Given the description of an element on the screen output the (x, y) to click on. 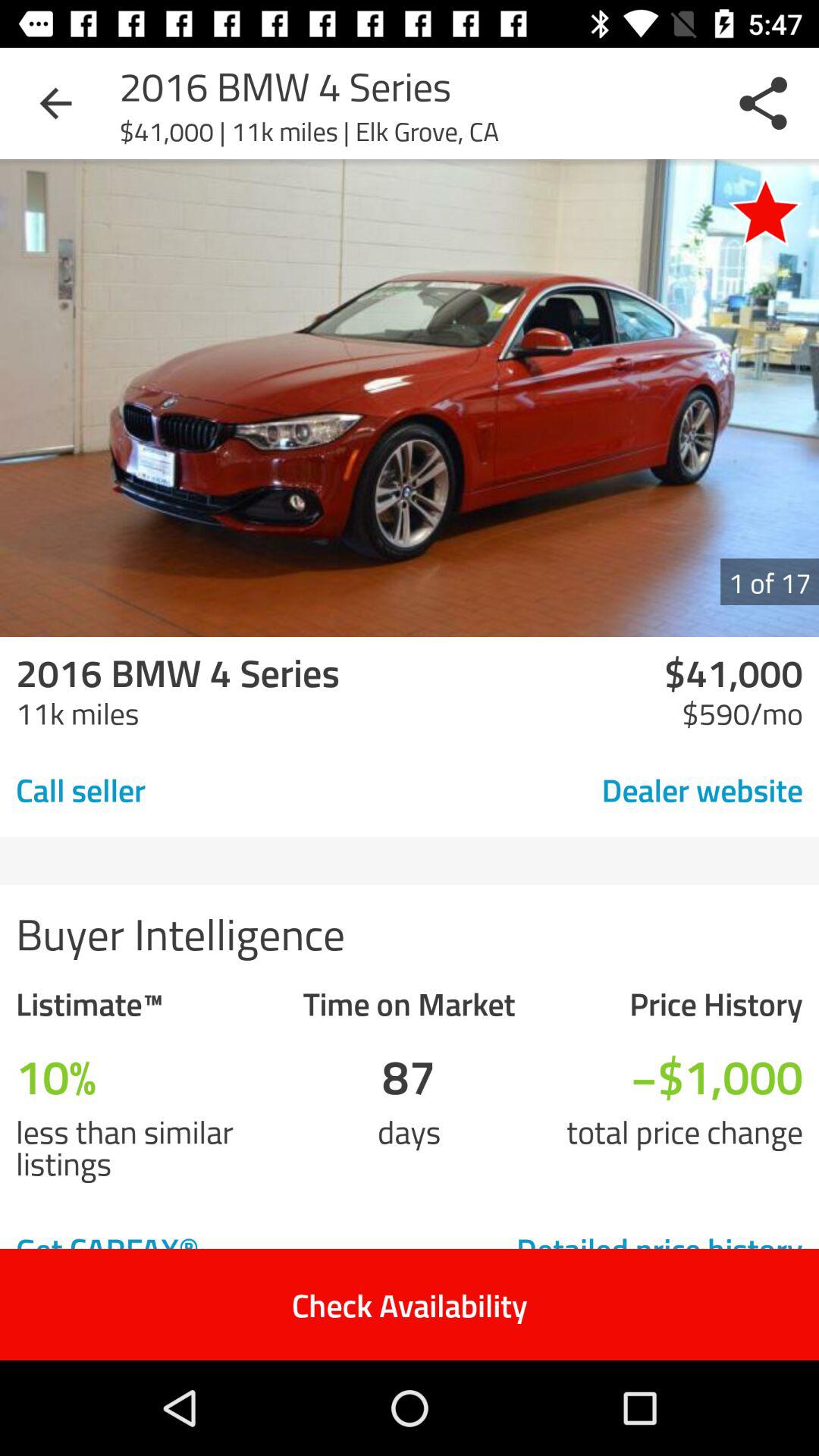
open icon below the less than similar item (183, 1248)
